Given the description of an element on the screen output the (x, y) to click on. 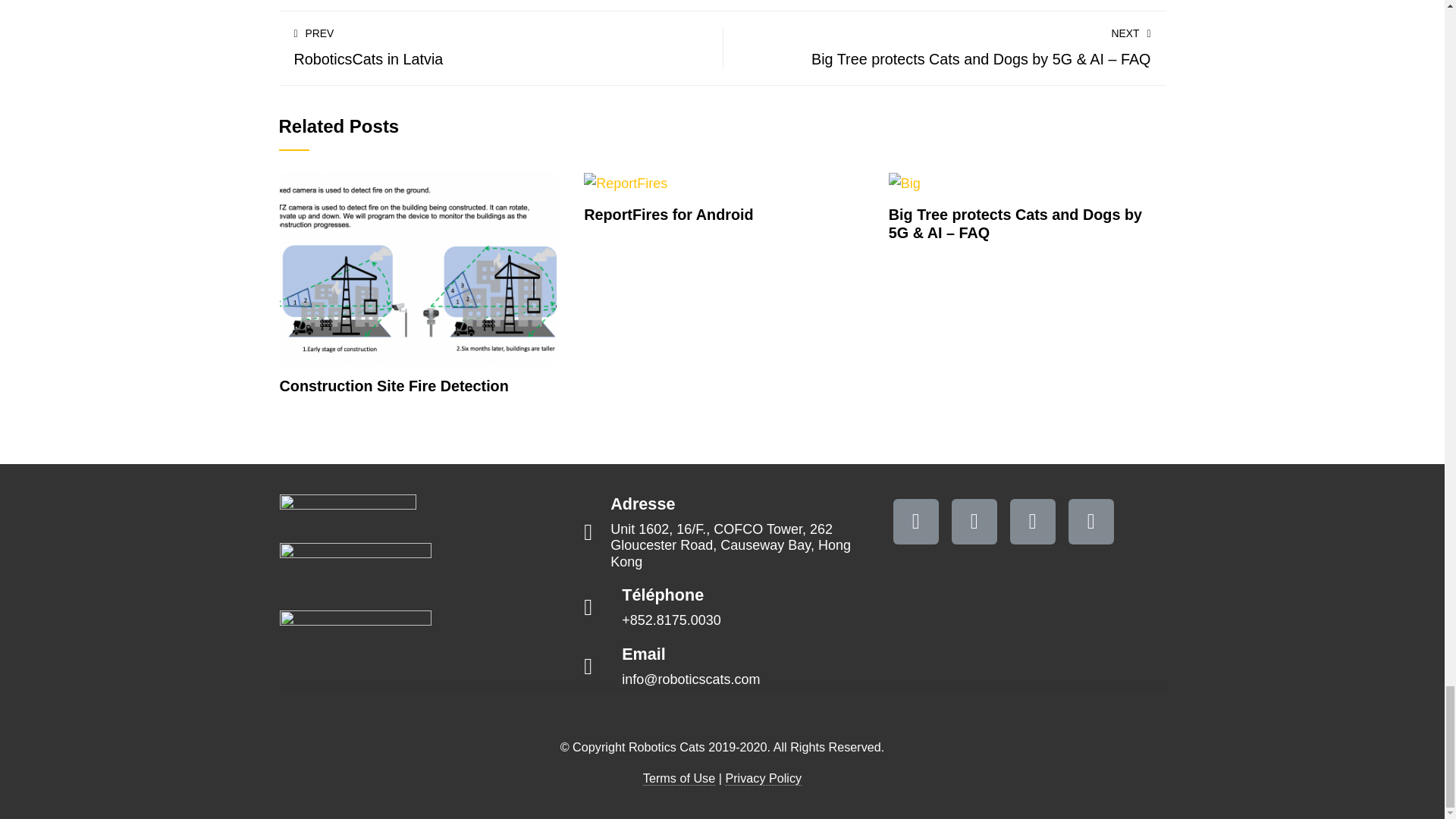
Construction Site Fire Detection (418, 268)
ReportFires for Android (667, 214)
Construction Site Fire Detection (393, 385)
ReportFires for Android (624, 182)
